Given the description of an element on the screen output the (x, y) to click on. 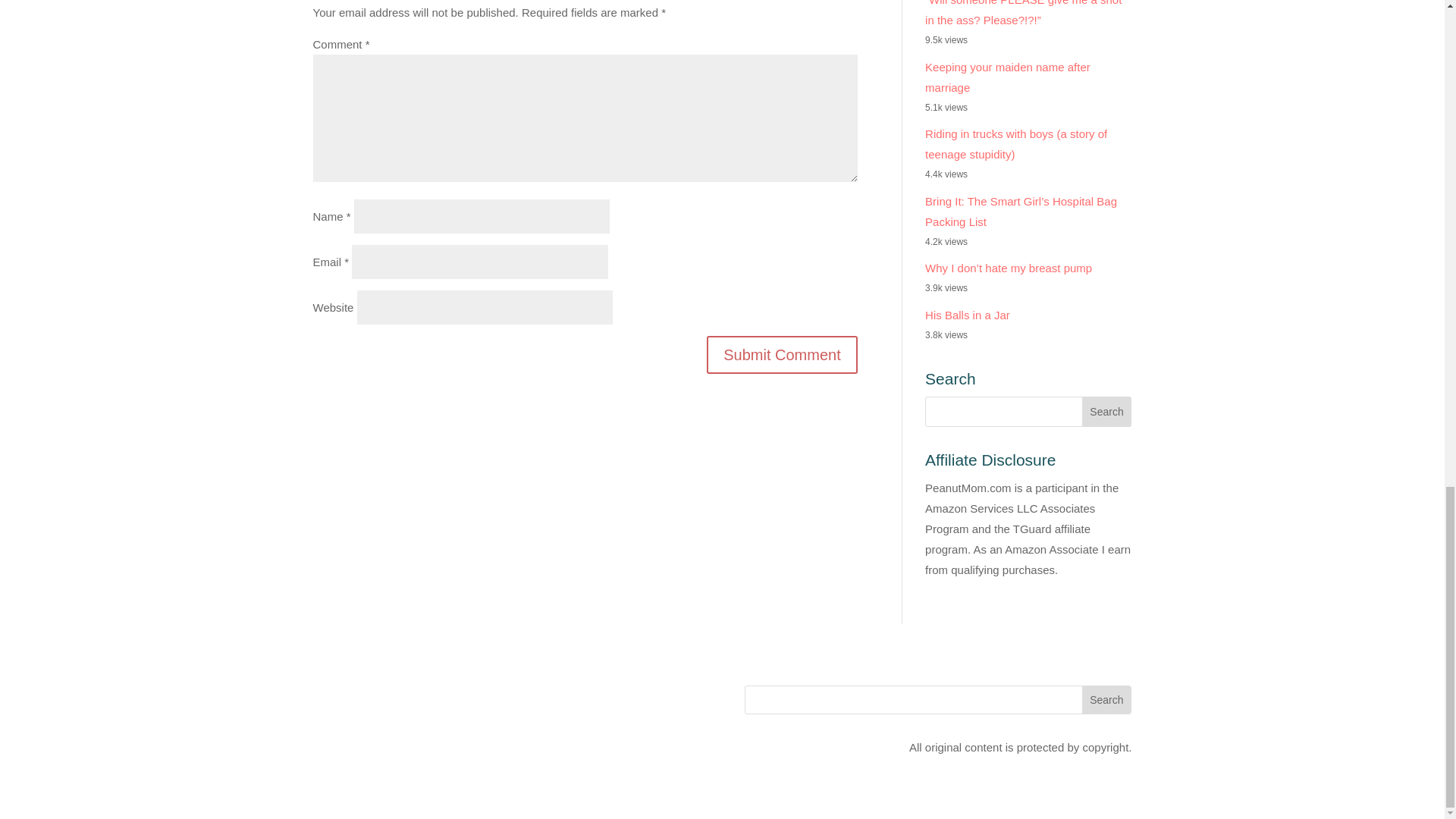
Search (1106, 699)
Search (1106, 699)
Keeping your maiden name after marriage (1007, 77)
Submit Comment (781, 354)
Submit Comment (781, 354)
Search (1106, 411)
